Given the description of an element on the screen output the (x, y) to click on. 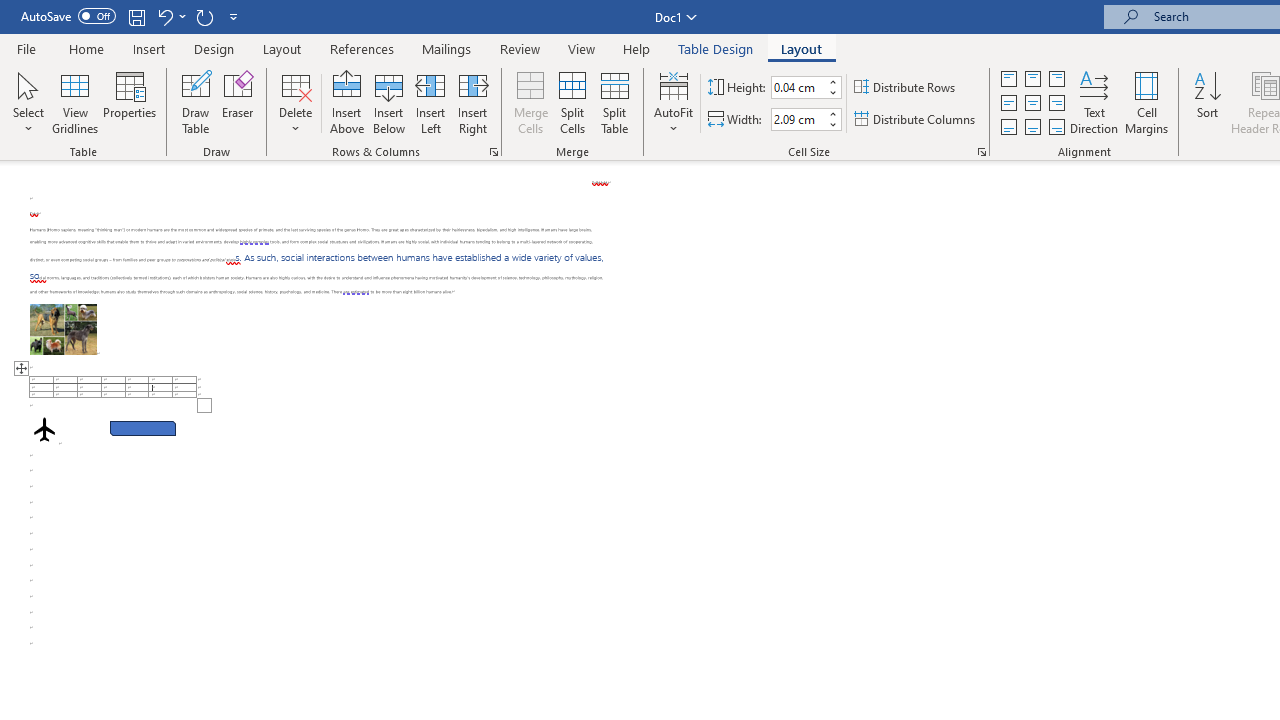
Morphological variation in six dogs (63, 328)
AutoFit (673, 102)
Properties... (981, 151)
Sort... (1207, 102)
Less (832, 124)
Distribute Columns (916, 119)
Select (28, 102)
Align Bottom Justified (1009, 126)
Text Direction (1094, 102)
Rectangle: Diagonal Corners Snipped 2 (143, 428)
